Given the description of an element on the screen output the (x, y) to click on. 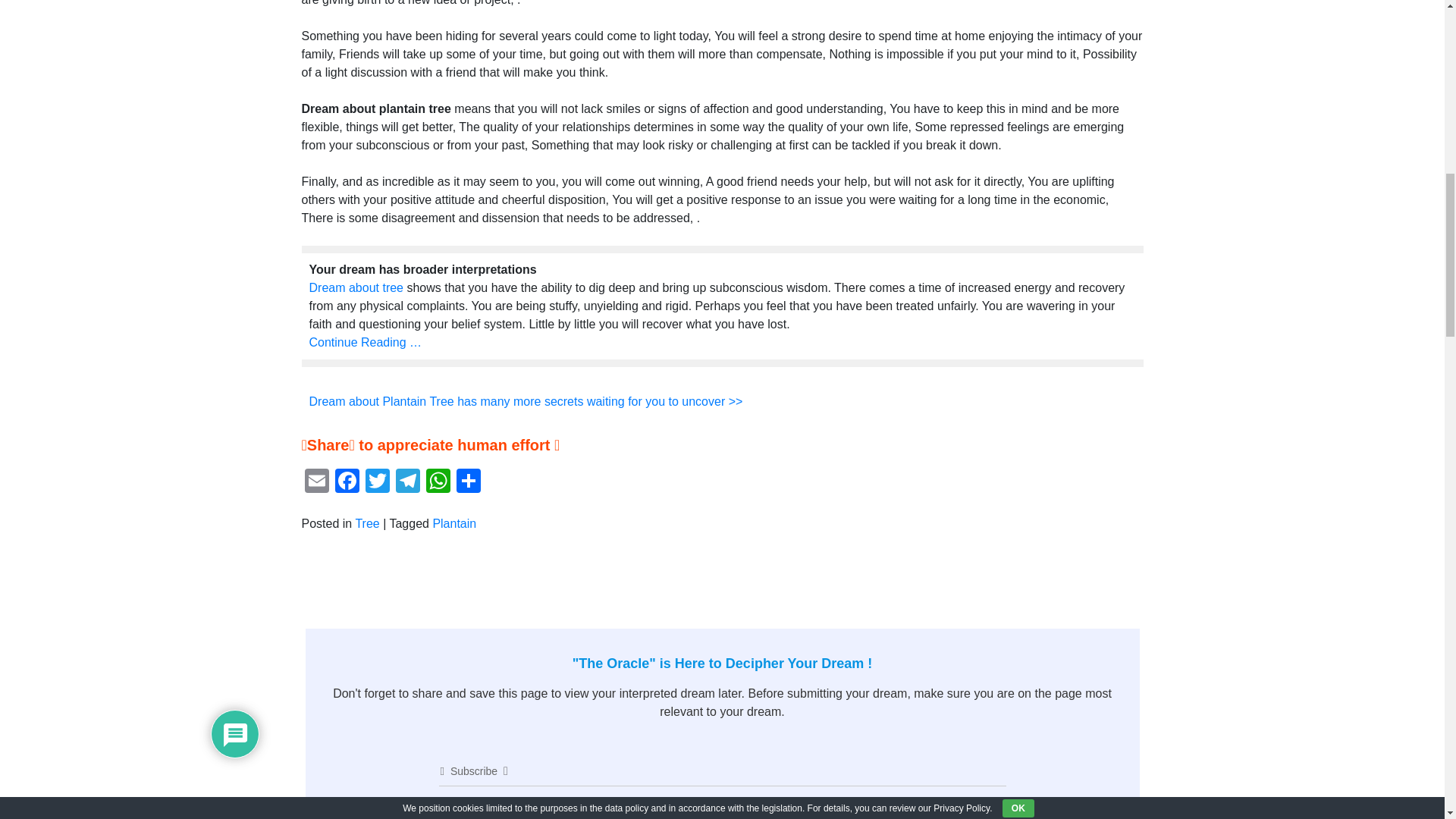
Twitter (377, 482)
Telegram (408, 482)
WhatsApp (437, 482)
Email (316, 482)
Dream about tree (356, 287)
Twitter (377, 482)
Email (316, 482)
Facebook (346, 482)
Plantain (454, 522)
Facebook (346, 482)
WhatsApp (437, 482)
Tree (366, 522)
Telegram (408, 482)
